Given the description of an element on the screen output the (x, y) to click on. 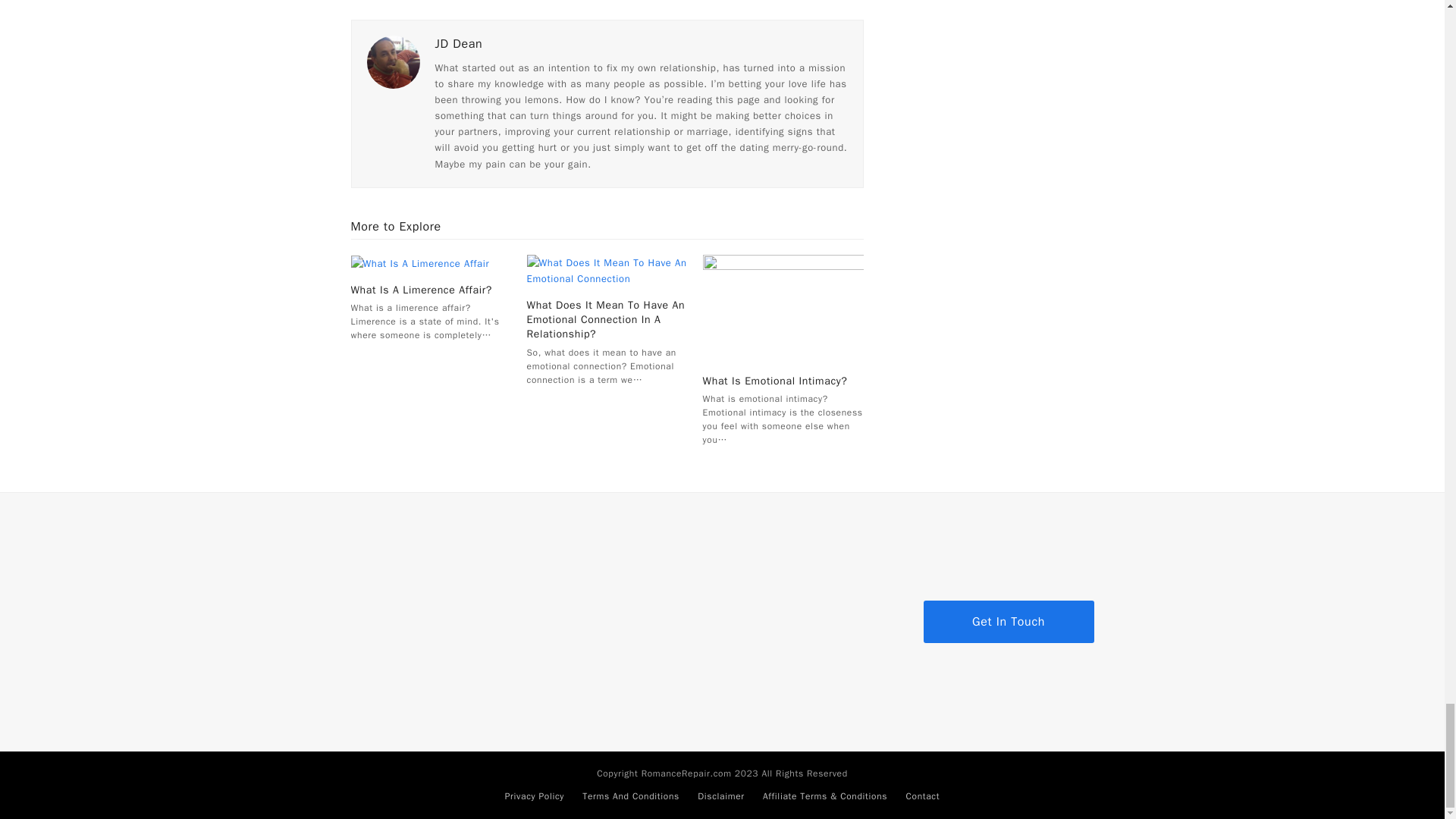
Get In Touch (1008, 621)
What Is A Limerence Affair? (421, 289)
Terms And Conditions (630, 796)
What Is Emotional Intimacy? (775, 380)
What Is A Limerence Affair? (419, 262)
What Is Emotional Intimacy? (783, 307)
Contact (922, 796)
Privacy Policy (534, 796)
Disclaimer (720, 796)
